Given the description of an element on the screen output the (x, y) to click on. 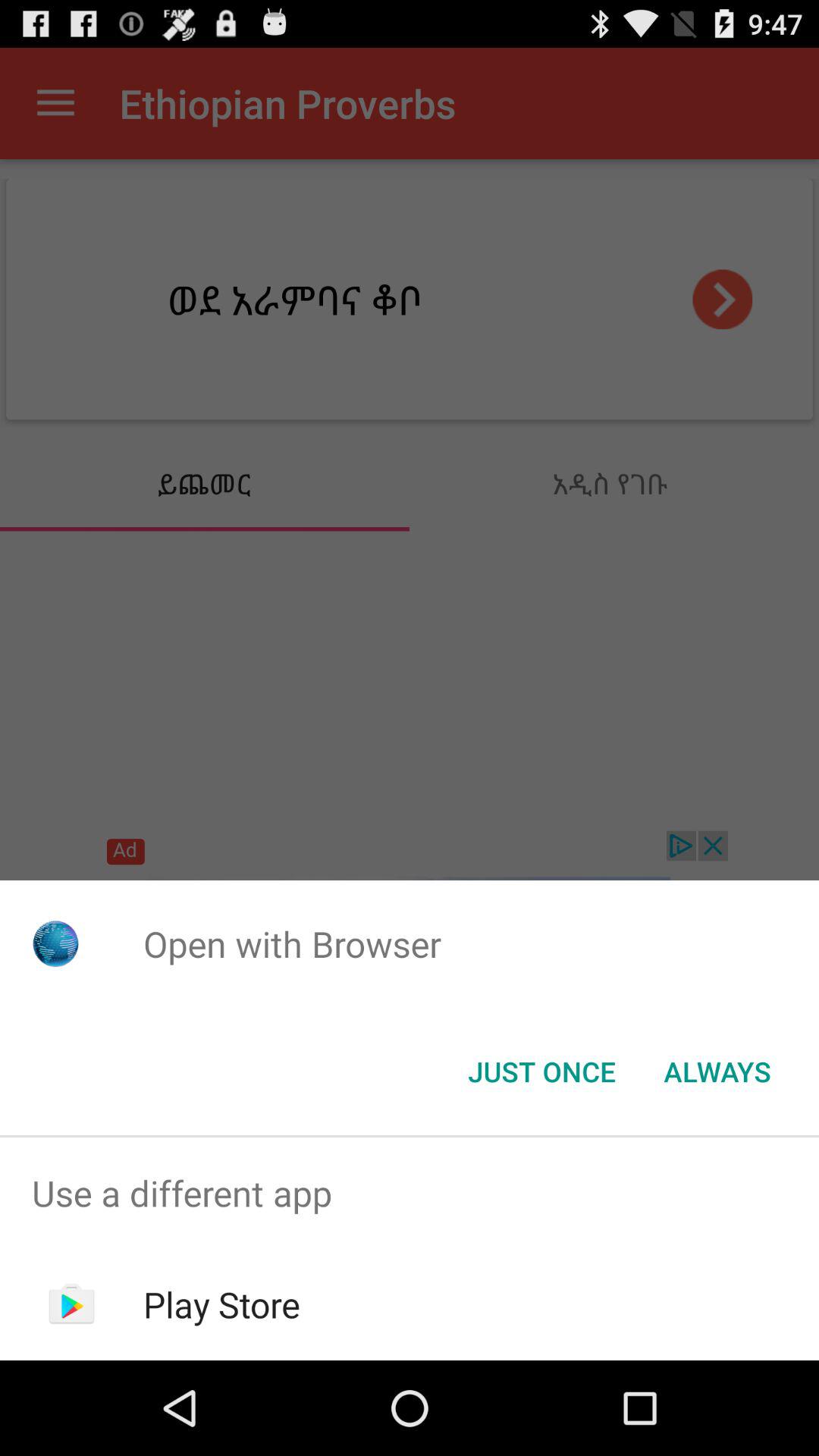
click the icon below the use a different item (221, 1304)
